Given the description of an element on the screen output the (x, y) to click on. 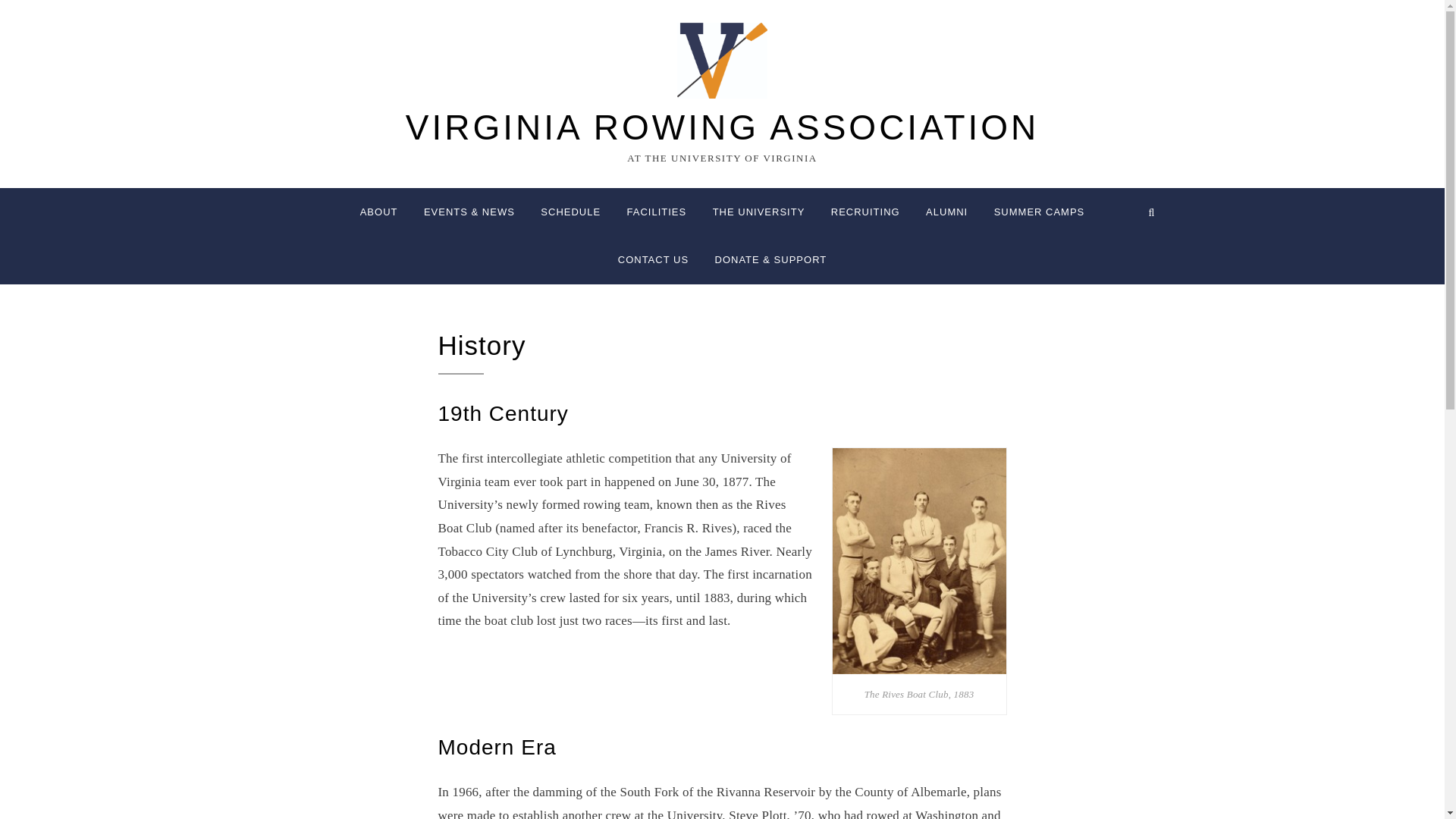
FACILITIES (656, 211)
THE UNIVERSITY (758, 211)
Virginia Rowing Association (722, 127)
ALUMNI (946, 211)
SCHEDULE (570, 211)
SUMMER CAMPS (1039, 211)
ABOUT (379, 211)
CONTACT US (653, 259)
VIRGINIA ROWING ASSOCIATION (722, 127)
RECRUITING (865, 211)
